Given the description of an element on the screen output the (x, y) to click on. 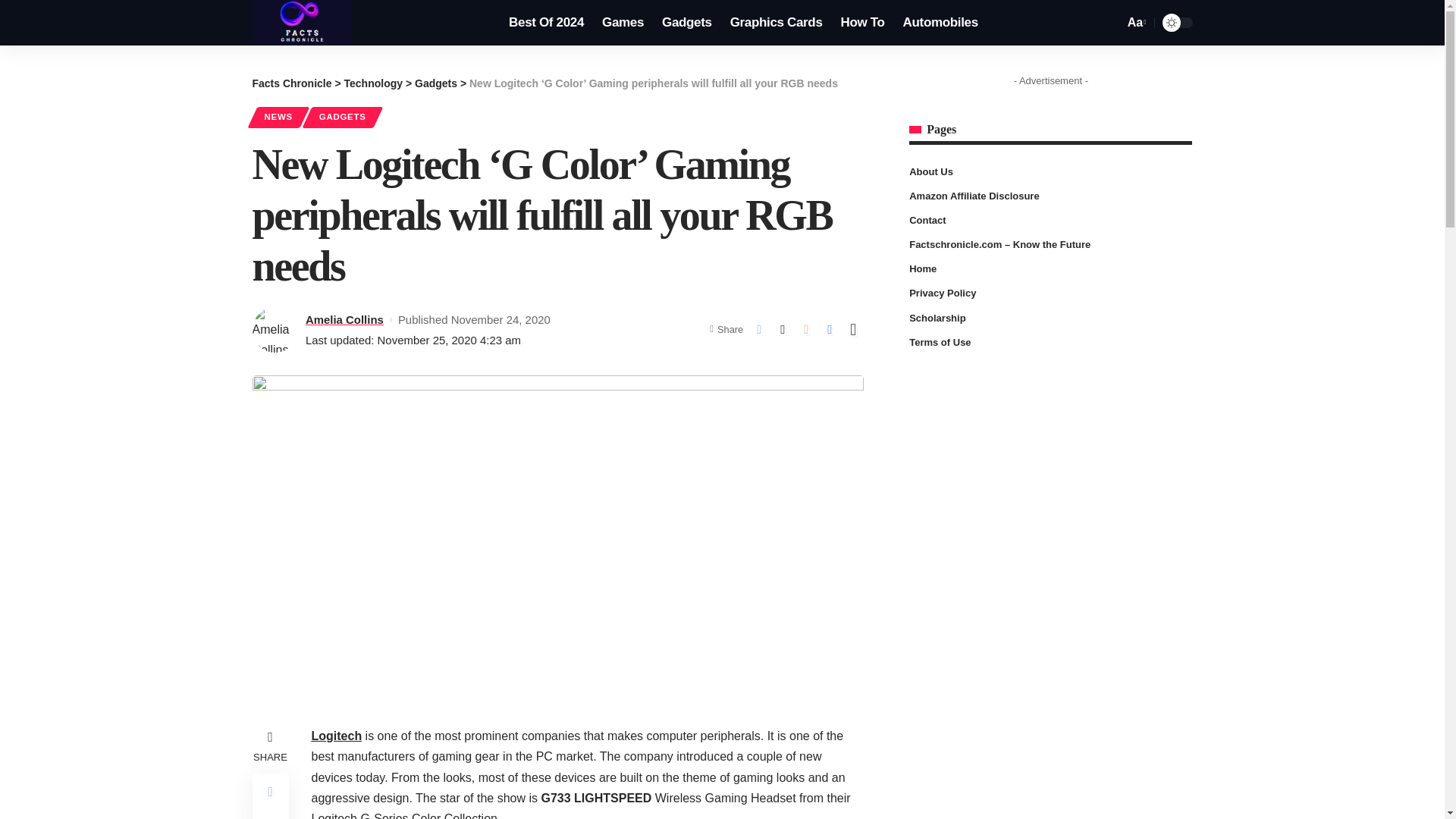
Go to Facts Chronicle. (291, 82)
Go to the Gadgets Category archives. (435, 82)
Amelia Collins (344, 319)
GADGETS (342, 117)
Graphics Cards (775, 22)
Automobiles (940, 22)
Games (622, 22)
Gadgets (686, 22)
How To (862, 22)
Facts Chronicle (301, 22)
